Given the description of an element on the screen output the (x, y) to click on. 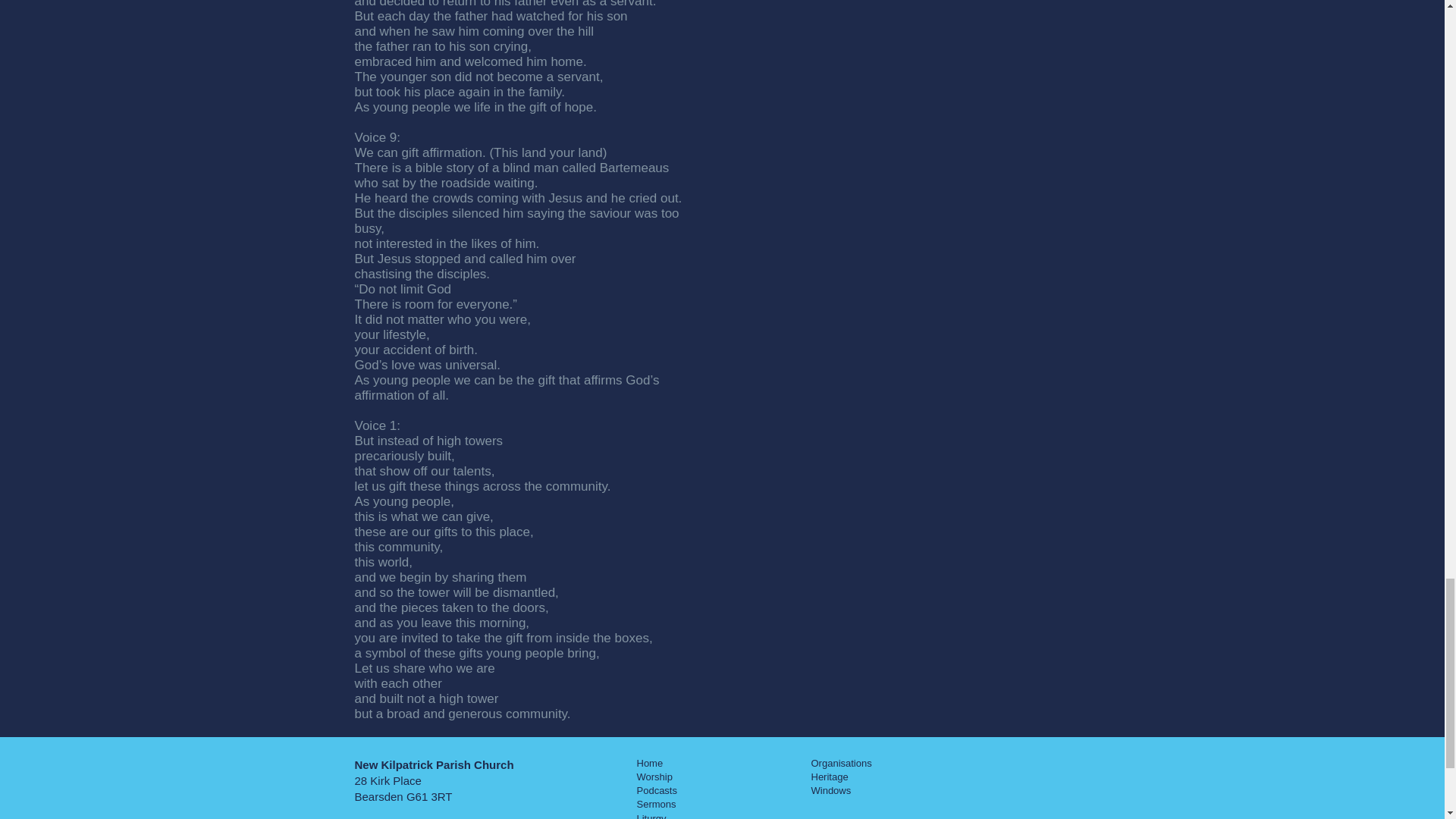
Organisations (841, 763)
Sermons (657, 803)
Liturgy (651, 816)
Podcasts (657, 790)
Home (650, 763)
Worship (654, 776)
Windows (830, 790)
Heritage (829, 776)
